Given the description of an element on the screen output the (x, y) to click on. 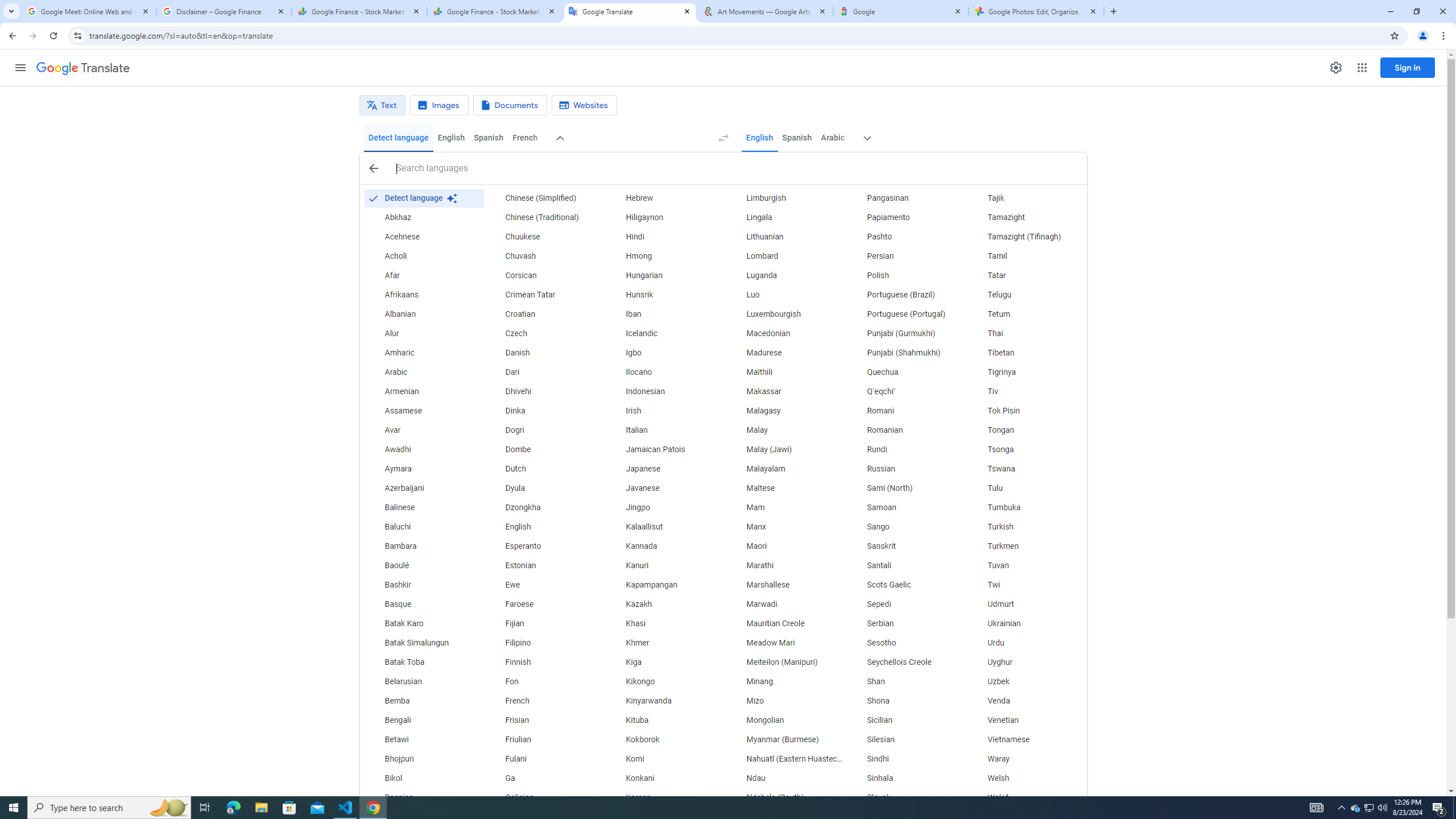
Malay (Jawi) (785, 449)
Kapampangan (665, 584)
Batak Simalungun (423, 642)
Acehnese (423, 236)
Lombard (785, 256)
Mongolian (785, 720)
Bengali (423, 720)
Limburgish (785, 198)
Tuvan (1026, 565)
Esperanto (544, 546)
More target languages (867, 137)
Lithuanian (785, 236)
